Given the description of an element on the screen output the (x, y) to click on. 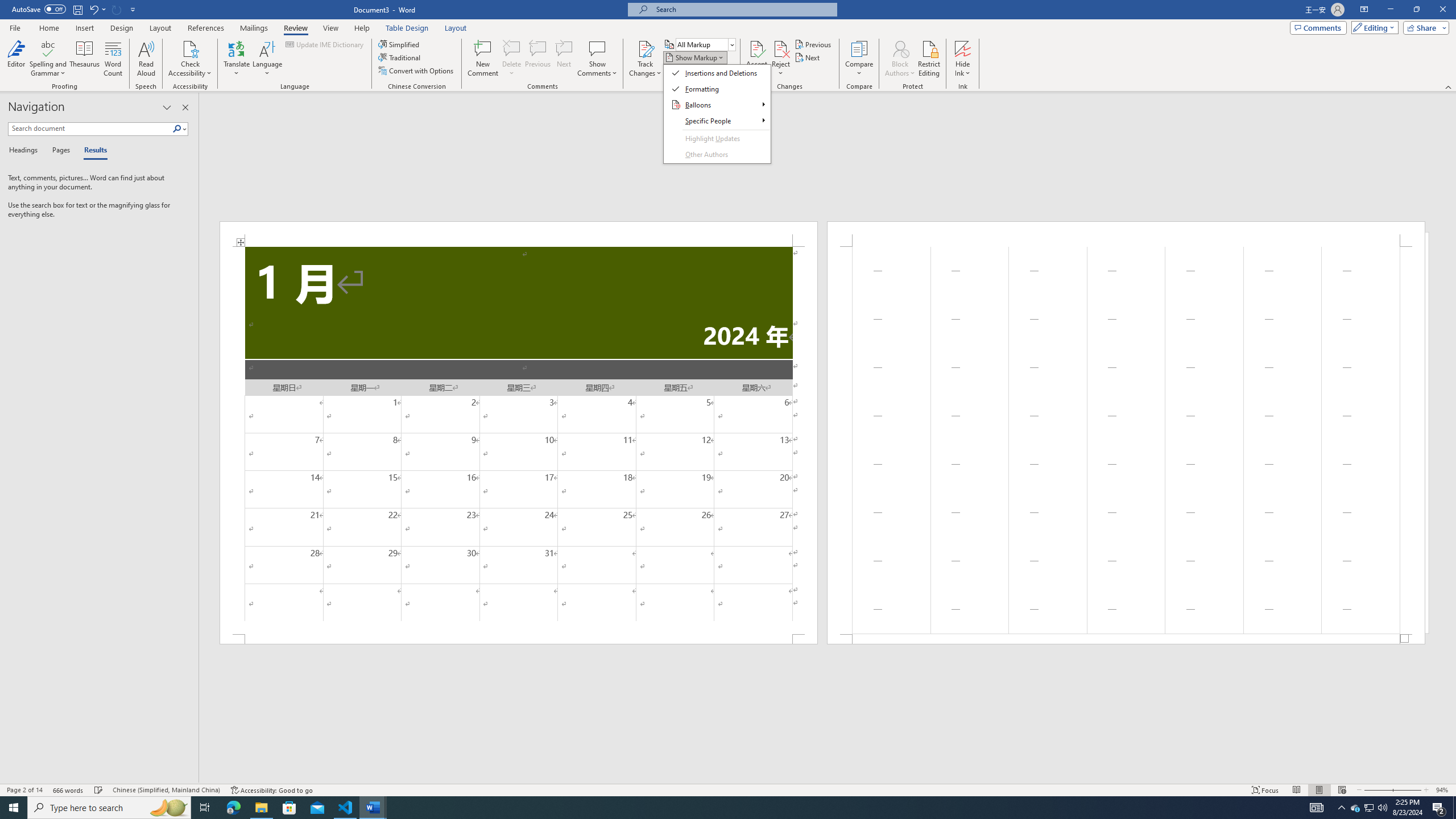
Can't Repeat (117, 9)
Display for Review (705, 44)
Thesaurus... (84, 58)
